Given the description of an element on the screen output the (x, y) to click on. 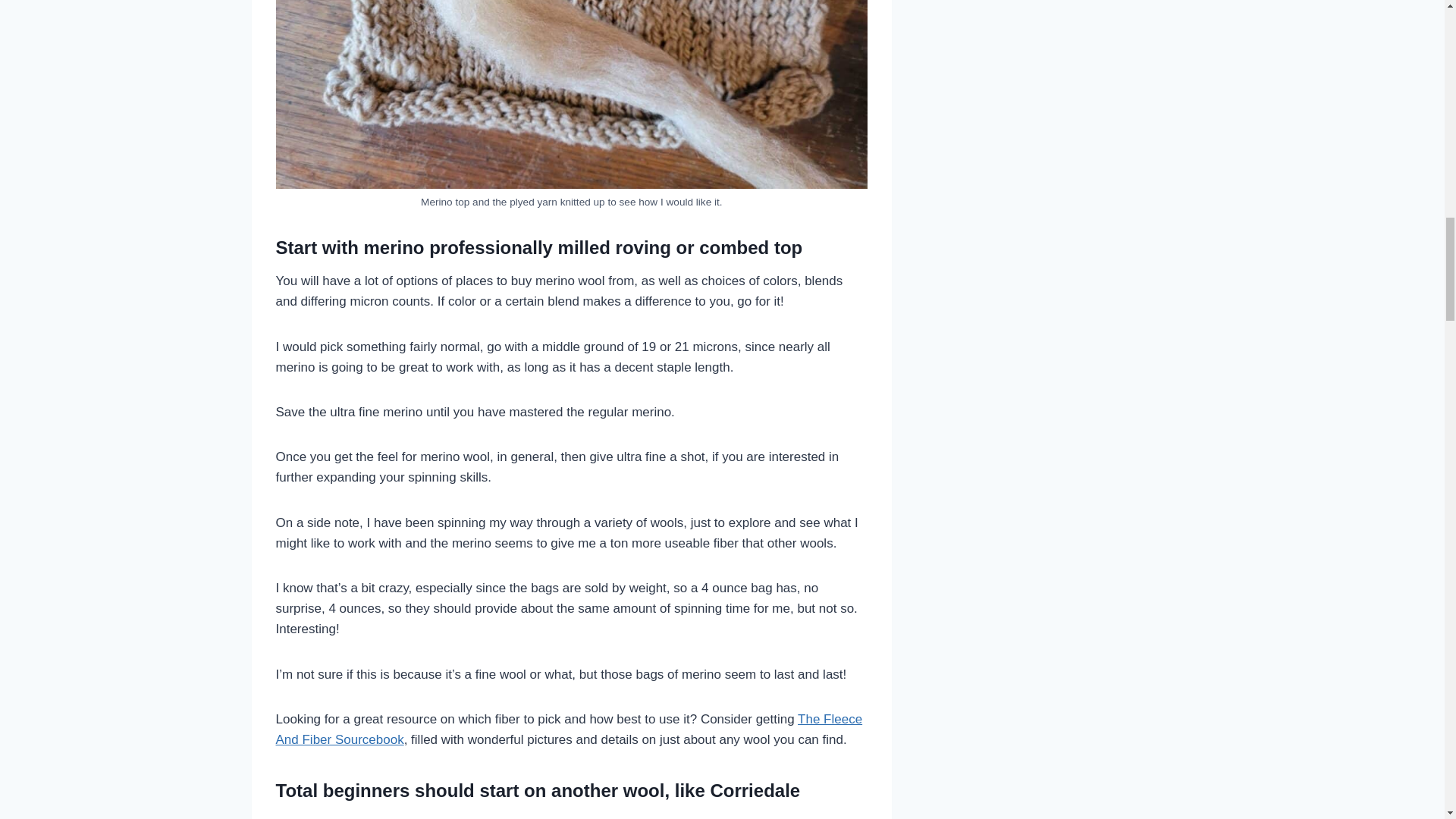
The Fleece And Fiber Sourcebook (569, 728)
